Given the description of an element on the screen output the (x, y) to click on. 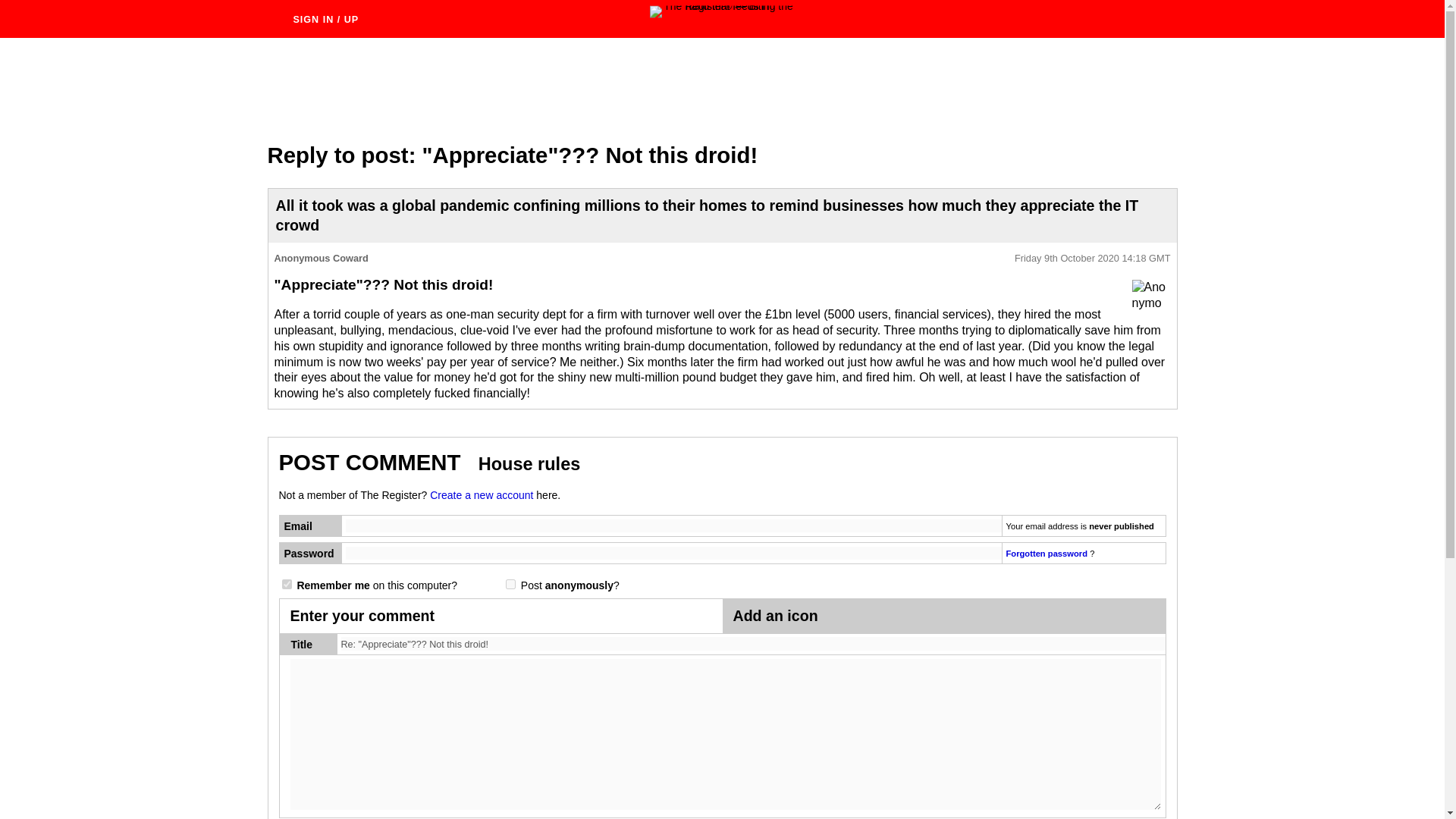
1 (287, 583)
Posted by a snivelling, miserable coward (1149, 297)
Permalink to this post (1092, 258)
Re: "Appreciate"??? Not this droid! (753, 644)
1 (510, 583)
